Given the description of an element on the screen output the (x, y) to click on. 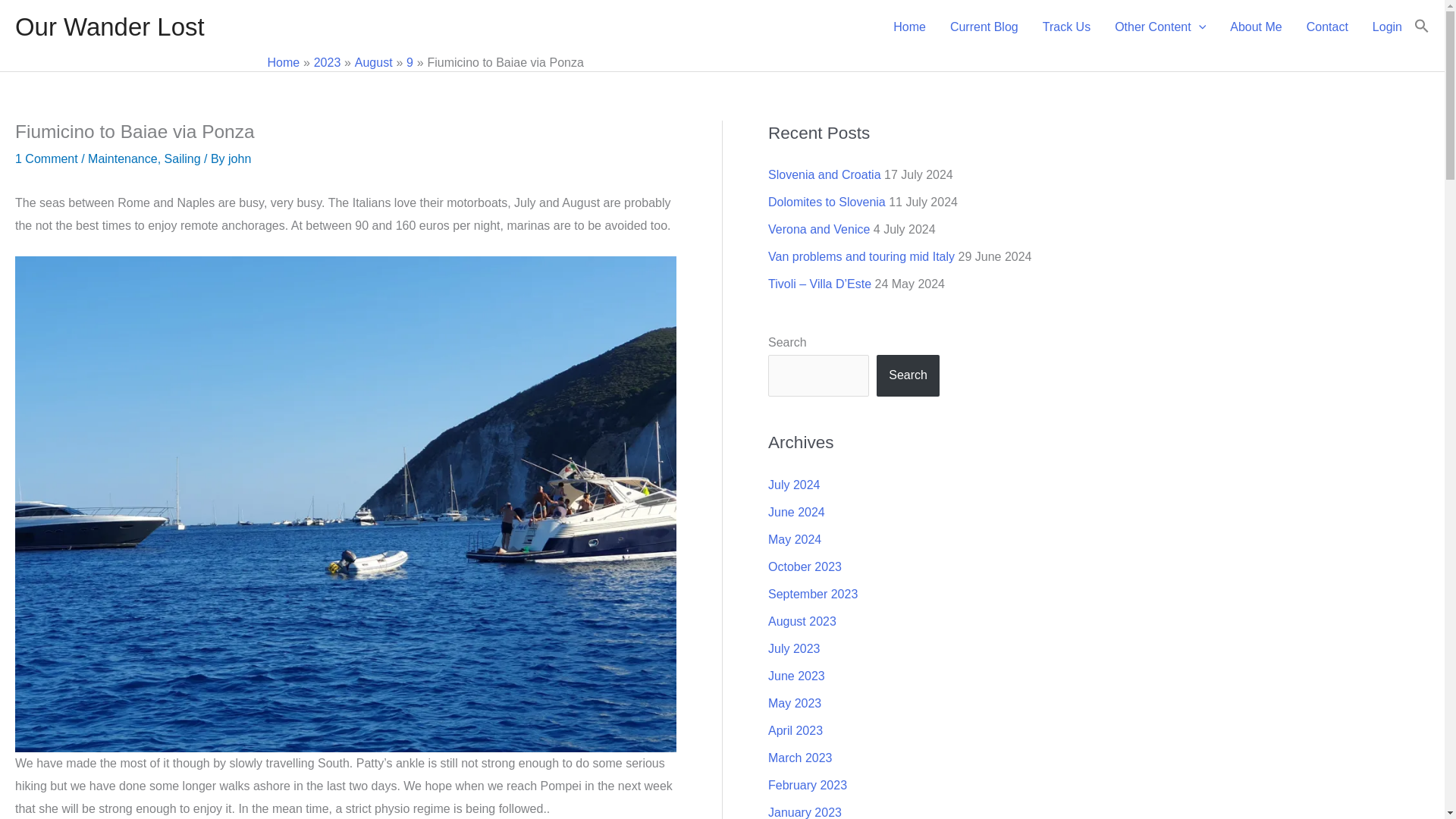
Login (1386, 27)
View all posts by john (239, 158)
Home (282, 62)
1 Comment (46, 158)
2023 (327, 62)
August (374, 62)
Sailing (182, 158)
About Me (1255, 27)
Our Wander Lost (109, 26)
Maintenance (122, 158)
Home (908, 27)
john (239, 158)
Current Blog (983, 27)
Track Us (1066, 27)
Contact (1326, 27)
